Given the description of an element on the screen output the (x, y) to click on. 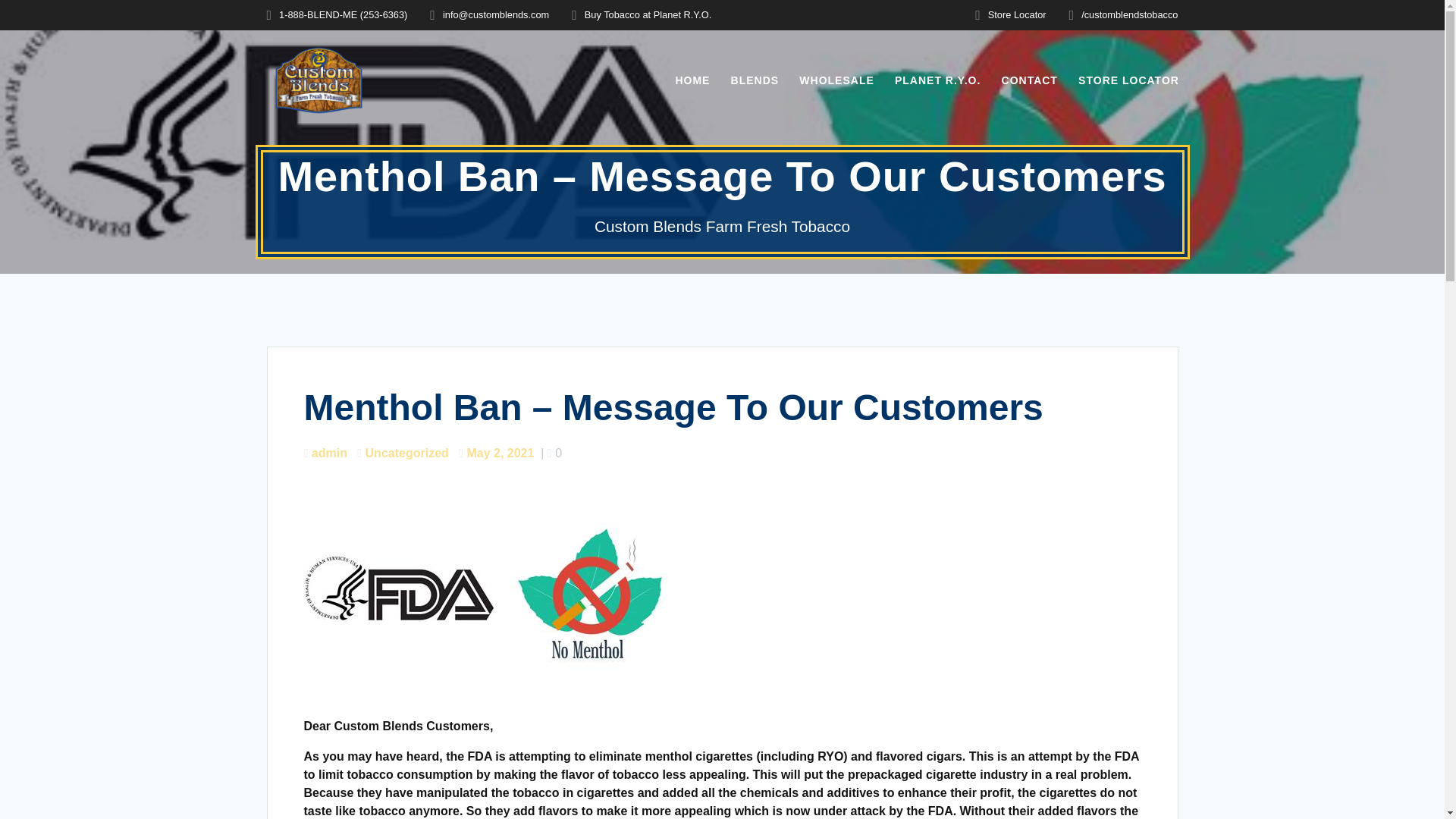
CONTACT (1029, 80)
Uncategorized (406, 452)
PLANET R.Y.O. (937, 80)
HOME (692, 80)
Buy Tobacco at Planet R.Y.O. (648, 14)
STORE LOCATOR (1128, 80)
Store Locator (1017, 14)
Posts by admin (329, 452)
WHOLESALE (836, 80)
BLENDS (754, 80)
admin (329, 452)
